Given the description of an element on the screen output the (x, y) to click on. 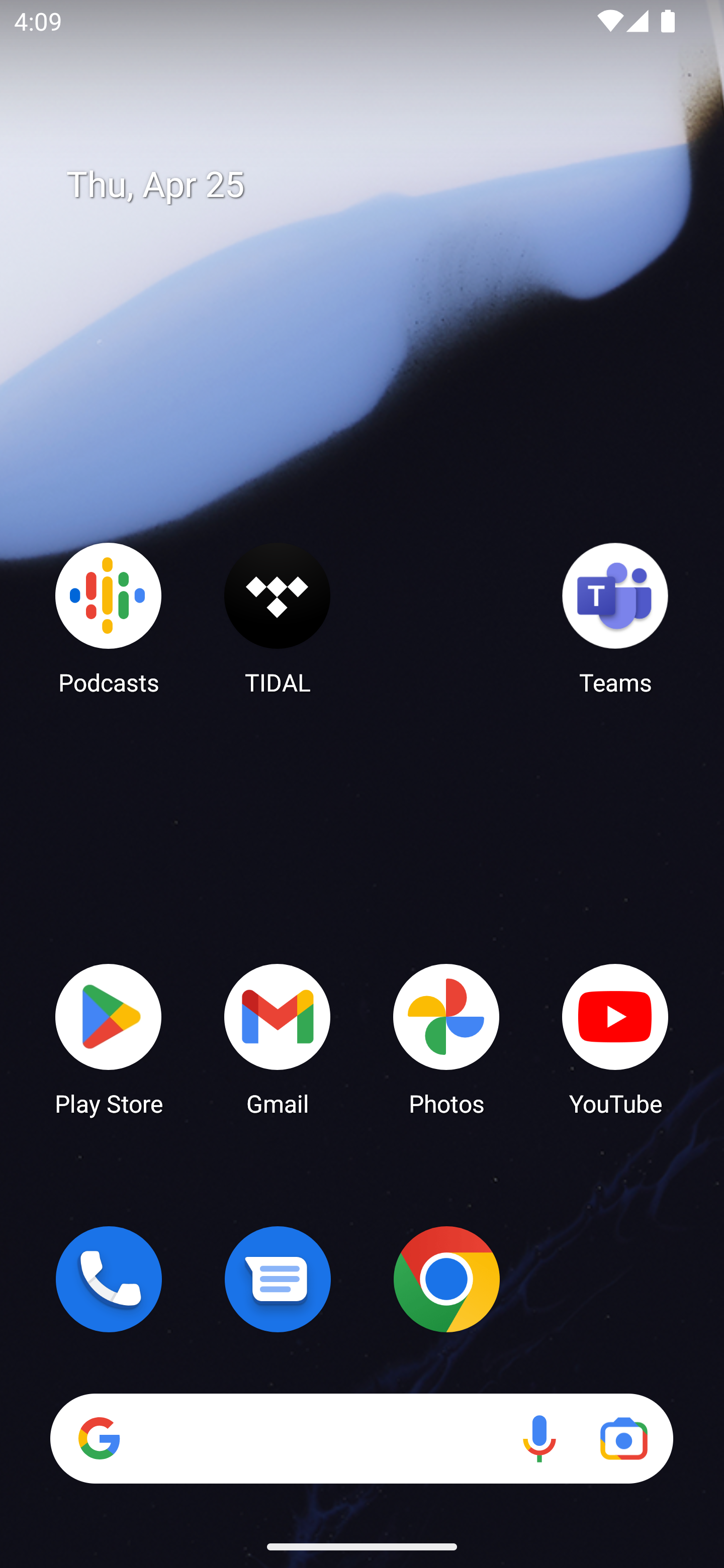
Thu, Apr 25 (375, 184)
Podcasts (108, 617)
TIDAL (277, 617)
Teams (615, 617)
Play Store (108, 1038)
Gmail (277, 1038)
Photos (445, 1038)
YouTube (615, 1038)
Phone (108, 1279)
Messages (277, 1279)
Chrome (446, 1279)
Search Voice search Google Lens (361, 1438)
Voice search (539, 1438)
Google Lens (623, 1438)
